Given the description of an element on the screen output the (x, y) to click on. 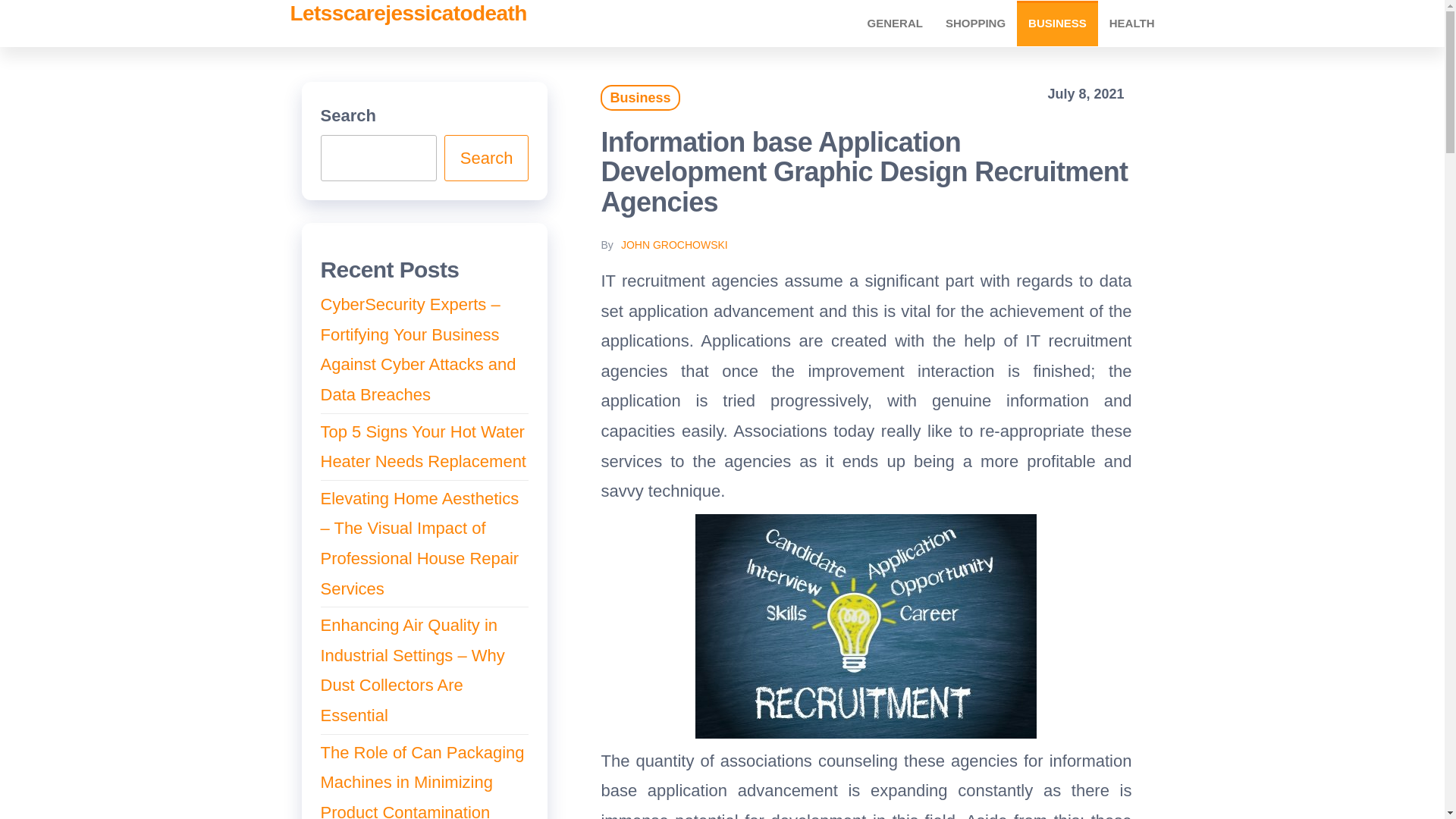
Business (1056, 22)
General (895, 22)
Shopping (975, 22)
Search (486, 158)
GENERAL (895, 22)
JOHN GROCHOWSKI (674, 244)
SHOPPING (975, 22)
Top 5 Signs Your Hot Water Heater Needs Replacement (422, 446)
Business (639, 97)
